Given the description of an element on the screen output the (x, y) to click on. 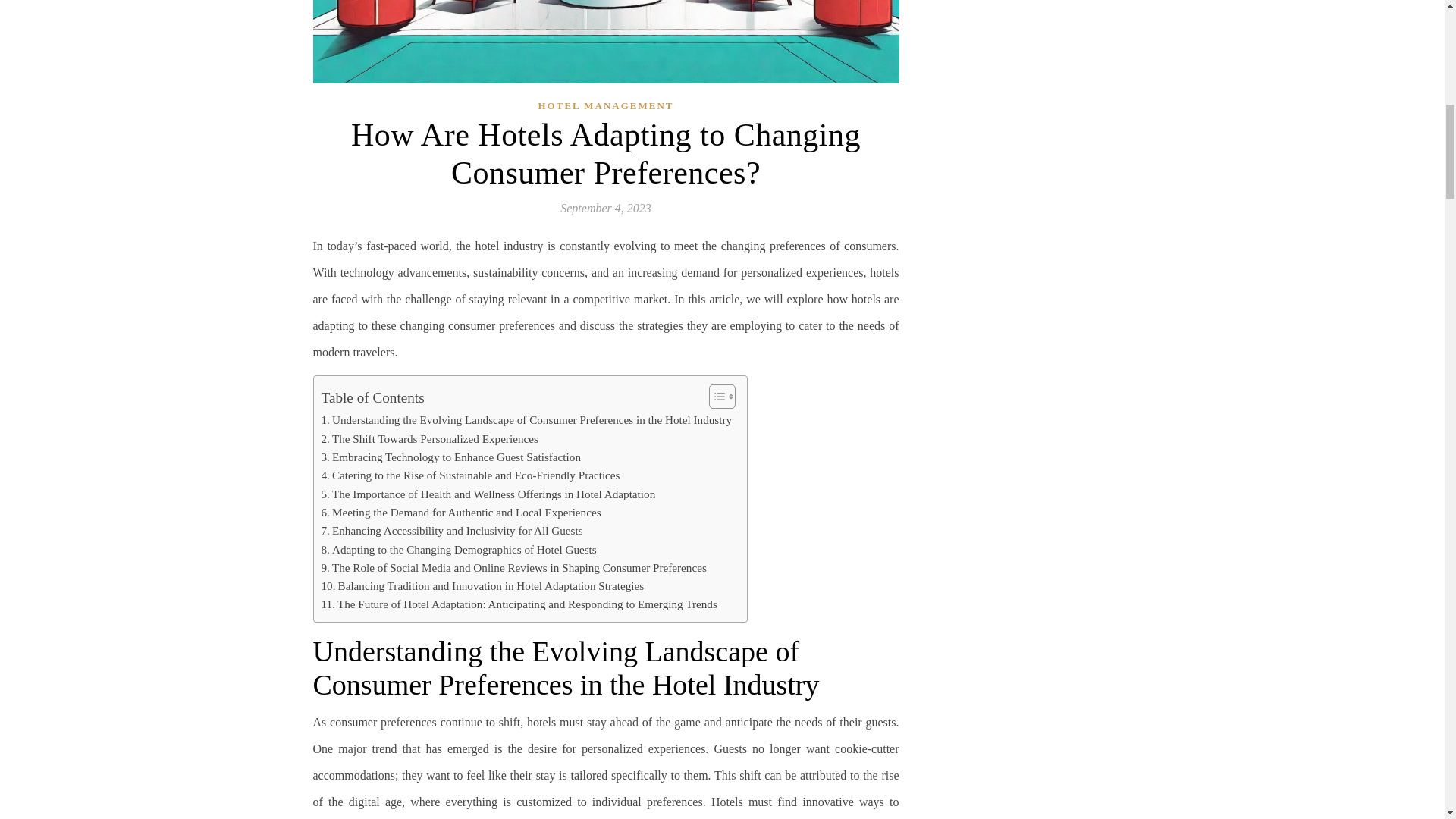
Meeting the Demand for Authentic and Local Experiences (461, 512)
Meeting the Demand for Authentic and Local Experiences (461, 512)
Adapting to the Changing Demographics of Hotel Guests (458, 549)
The Shift Towards Personalized Experiences (429, 438)
